Given the description of an element on the screen output the (x, y) to click on. 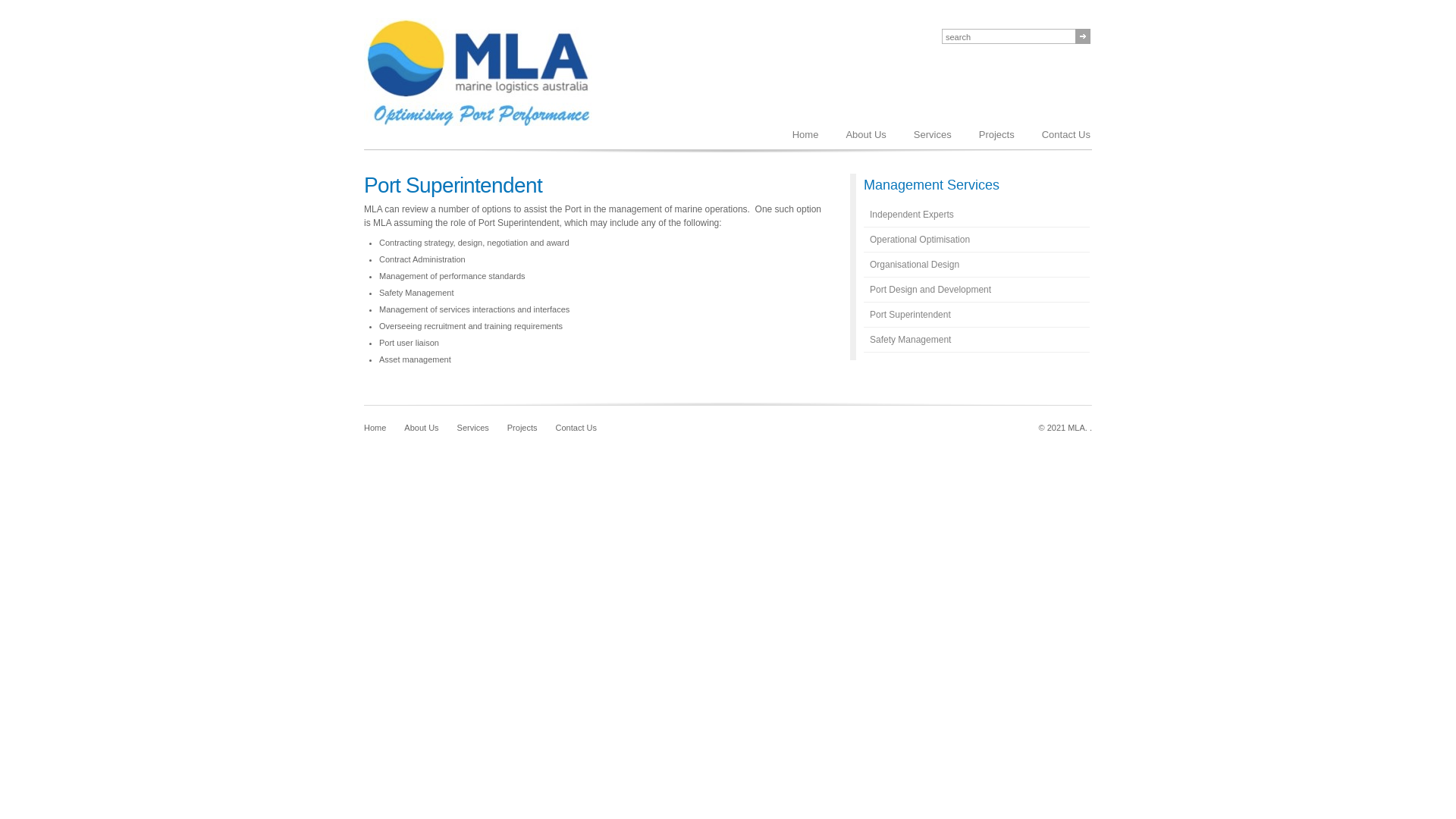
Services Element type: text (932, 134)
About Us Element type: text (421, 427)
About Us Element type: text (865, 134)
Services Element type: text (473, 427)
Home Element type: text (374, 427)
Projects Element type: text (996, 134)
Safety Management Element type: text (976, 339)
Organisational Design Element type: text (976, 264)
Contact Us Element type: text (575, 427)
Home Element type: text (805, 134)
Operational Optimisation Element type: text (976, 239)
Port Design and Development Element type: text (976, 289)
Independent Experts Element type: text (976, 214)
Projects Element type: text (522, 427)
Contact Us Element type: text (1066, 134)
Port Superintendent Element type: text (976, 314)
